Given the description of an element on the screen output the (x, y) to click on. 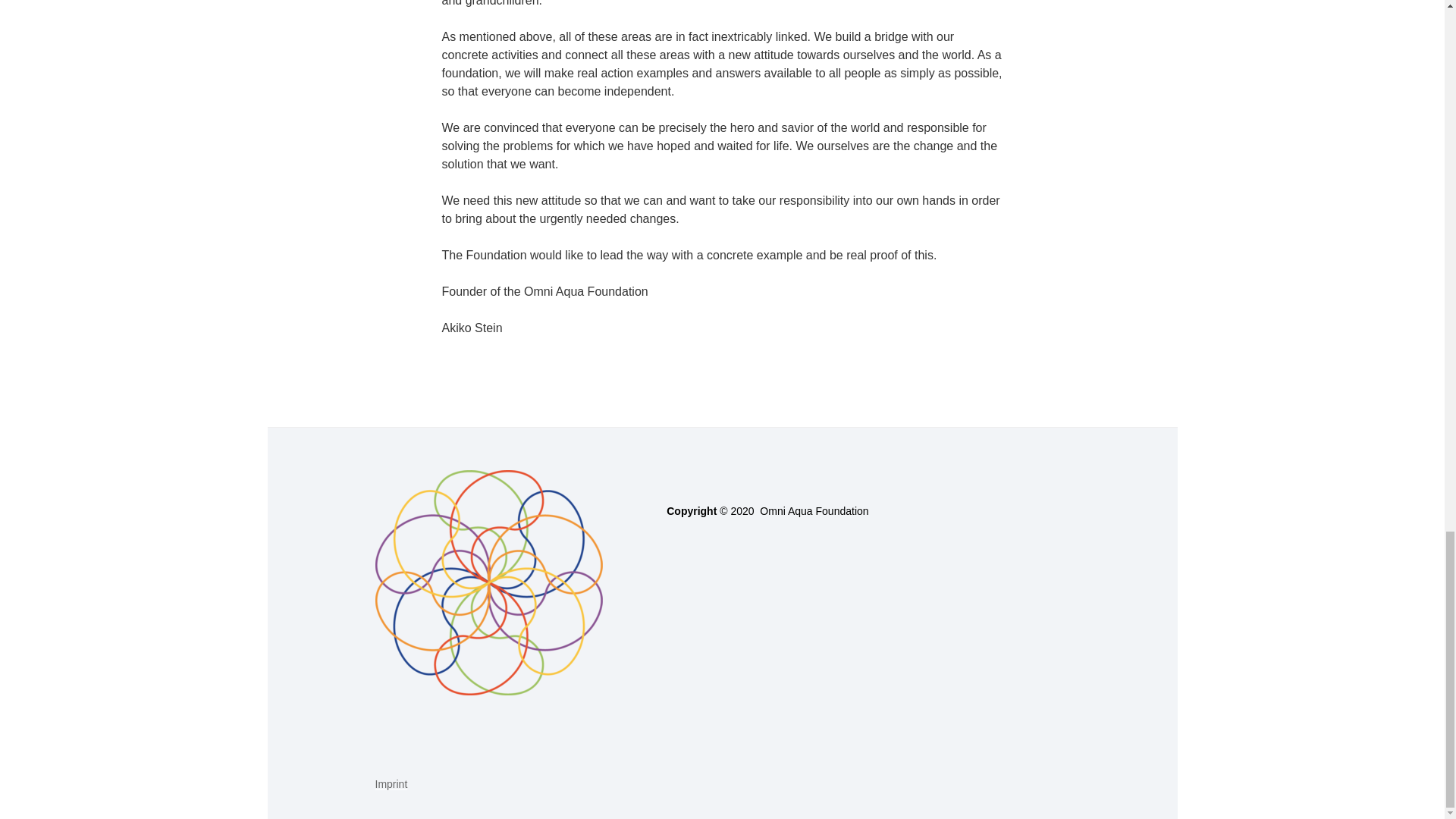
Imprint (390, 784)
